Given the description of an element on the screen output the (x, y) to click on. 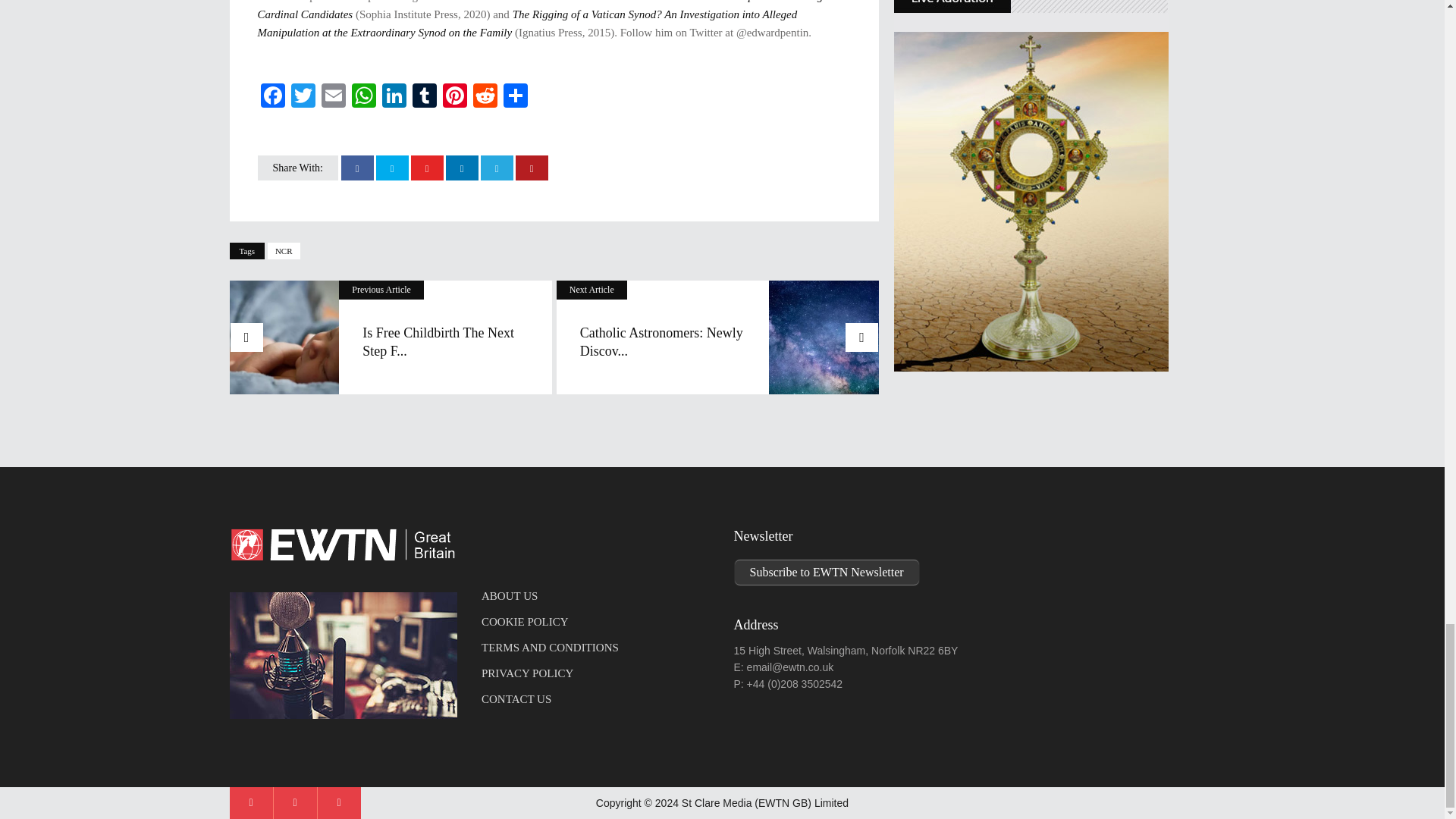
Pinterest (454, 97)
Twitter (303, 97)
Reddit (485, 97)
WhatsApp (363, 97)
Tumblr (424, 97)
LinkedIn (393, 97)
Facebook (272, 97)
Email (333, 97)
